Given the description of an element on the screen output the (x, y) to click on. 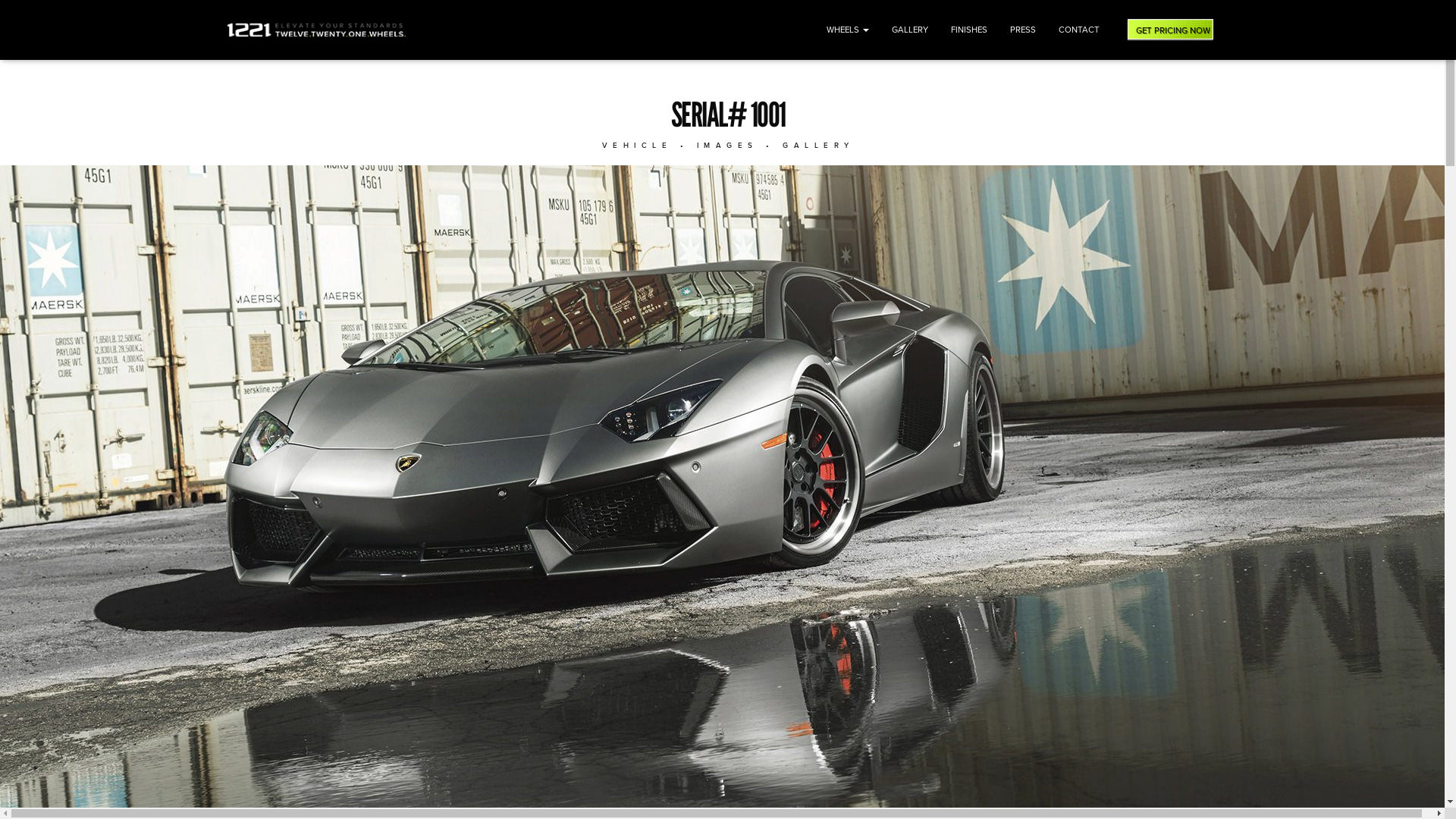
1221 Wheels Element type: hover (316, 30)
WHEELS Element type: text (847, 30)
CONTACT Element type: text (1078, 30)
FINISHES Element type: text (968, 30)
GET PRICING NOW Element type: text (1169, 29)
PRESS Element type: text (1022, 30)
GALLERY Element type: text (909, 30)
